Given the description of an element on the screen output the (x, y) to click on. 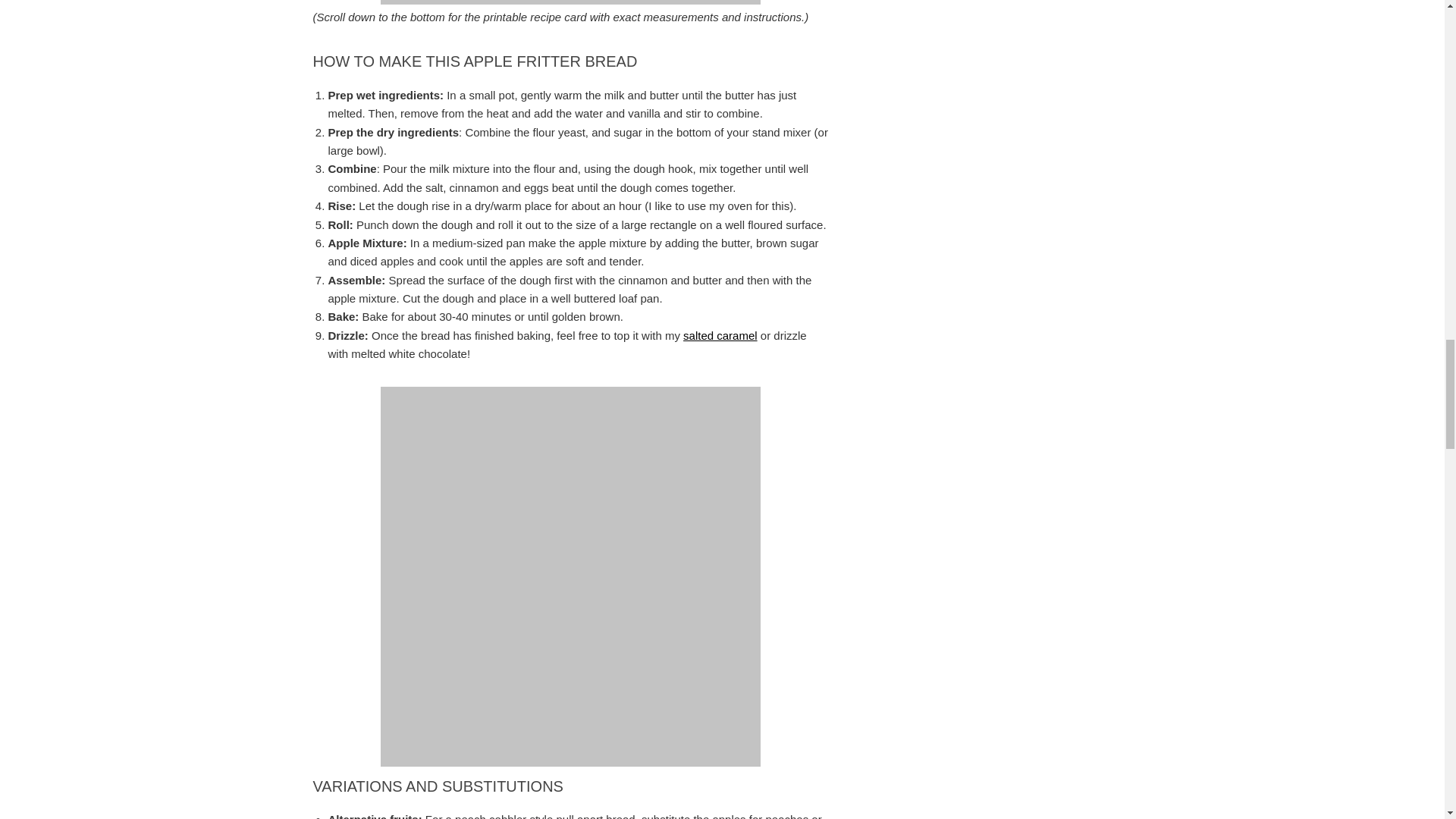
salted caramel (719, 335)
